Given the description of an element on the screen output the (x, y) to click on. 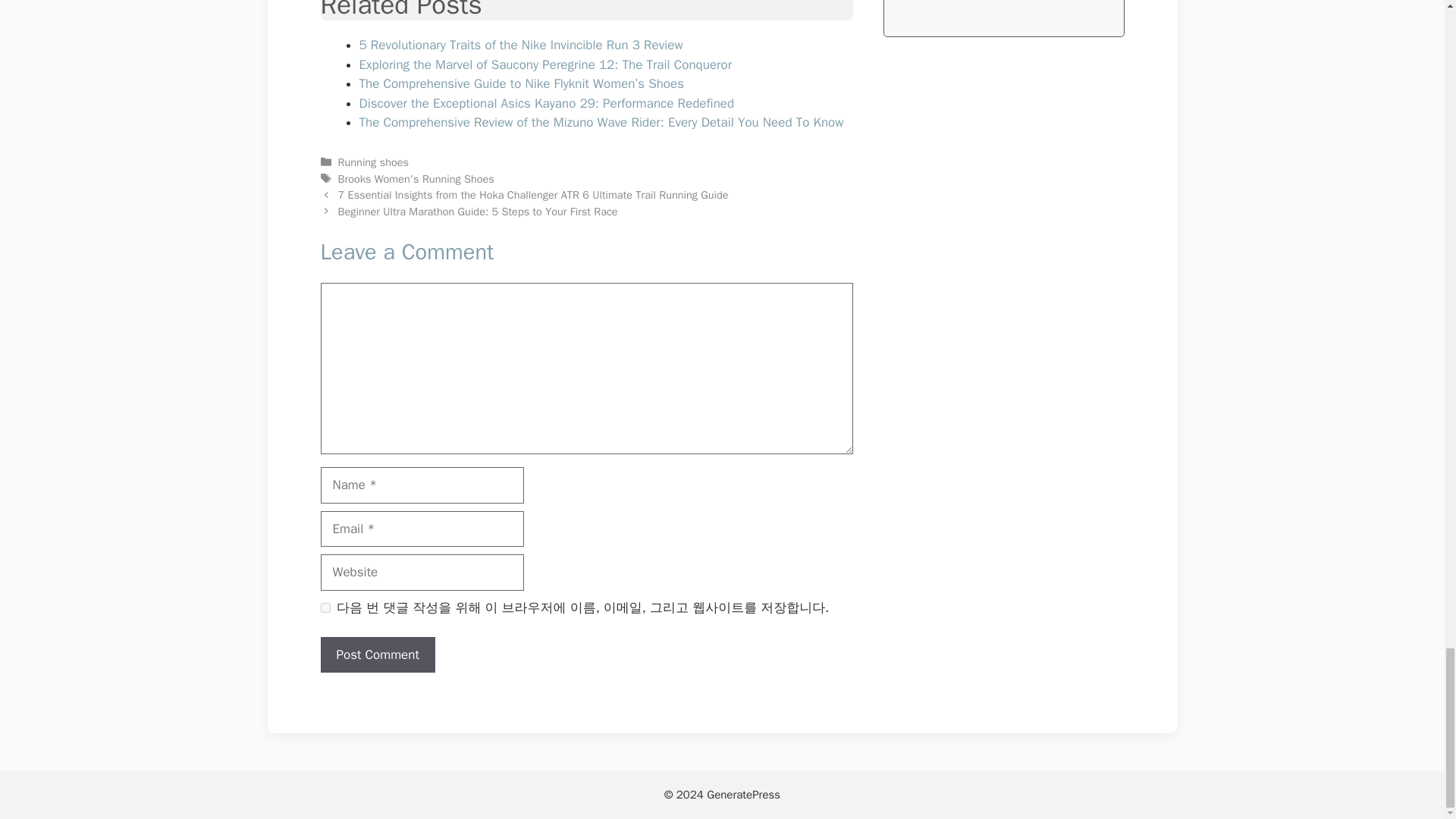
yes (325, 607)
Running shoes (373, 161)
5 Revolutionary Traits of the Nike Invincible Run 3 Review (520, 44)
Post Comment (376, 655)
Beginner Ultra Marathon Guide: 5 Steps to Your First Race (477, 211)
Brooks Women's Running Shoes (416, 178)
